Given the description of an element on the screen output the (x, y) to click on. 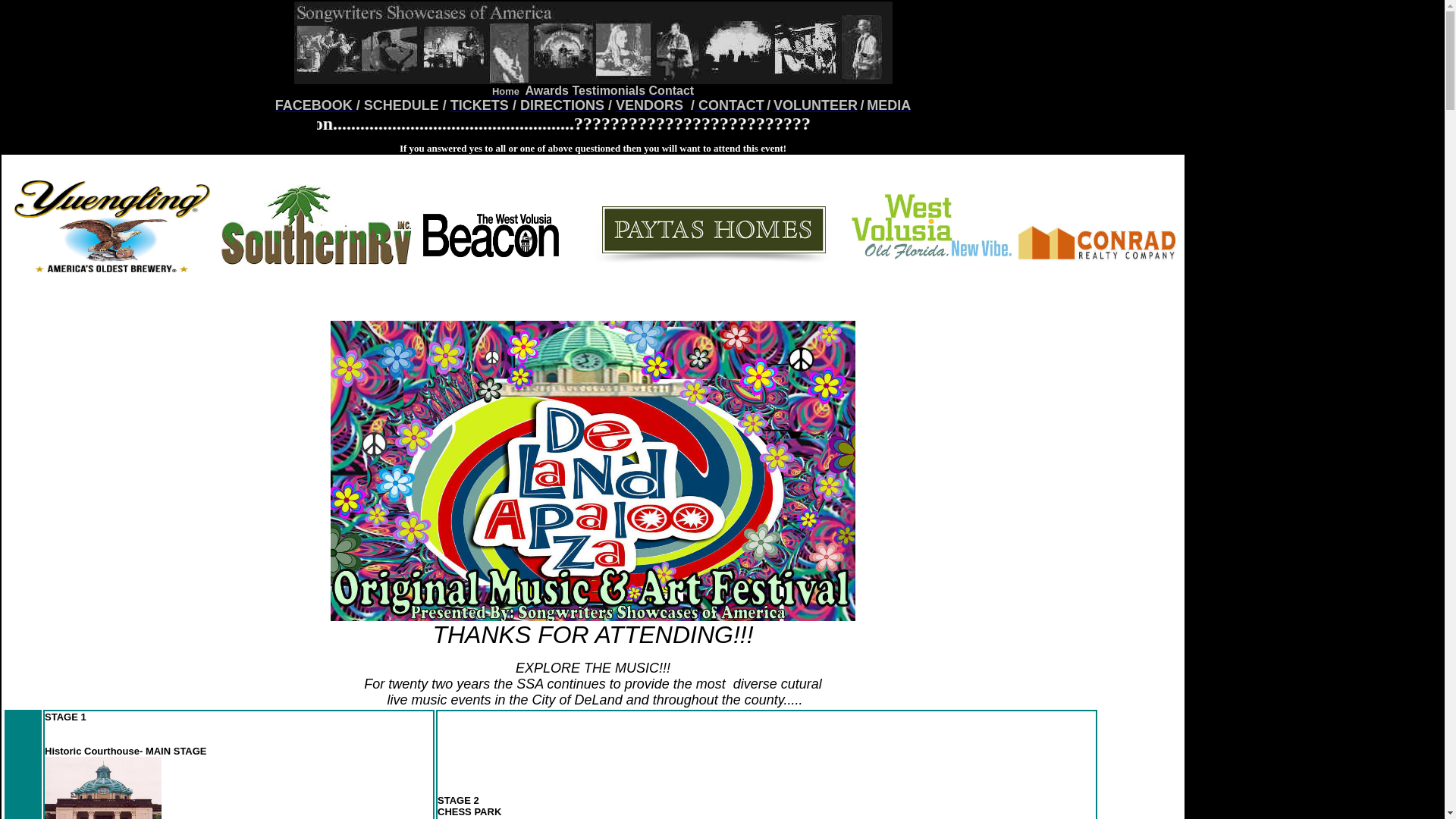
TICKETS Element type: text (479, 104)
VOLUNTEER Element type: text (815, 104)
Home Element type: text (505, 91)
Testimonials Element type: text (608, 90)
FACEBOOK Element type: text (315, 104)
VENDORS Element type: text (649, 104)
MEDIA Element type: text (888, 106)
CONTACT Element type: text (731, 106)
Awards Element type: text (546, 90)
Contact Element type: text (671, 90)
DIRECTIONS Element type: text (562, 104)
